Given the description of an element on the screen output the (x, y) to click on. 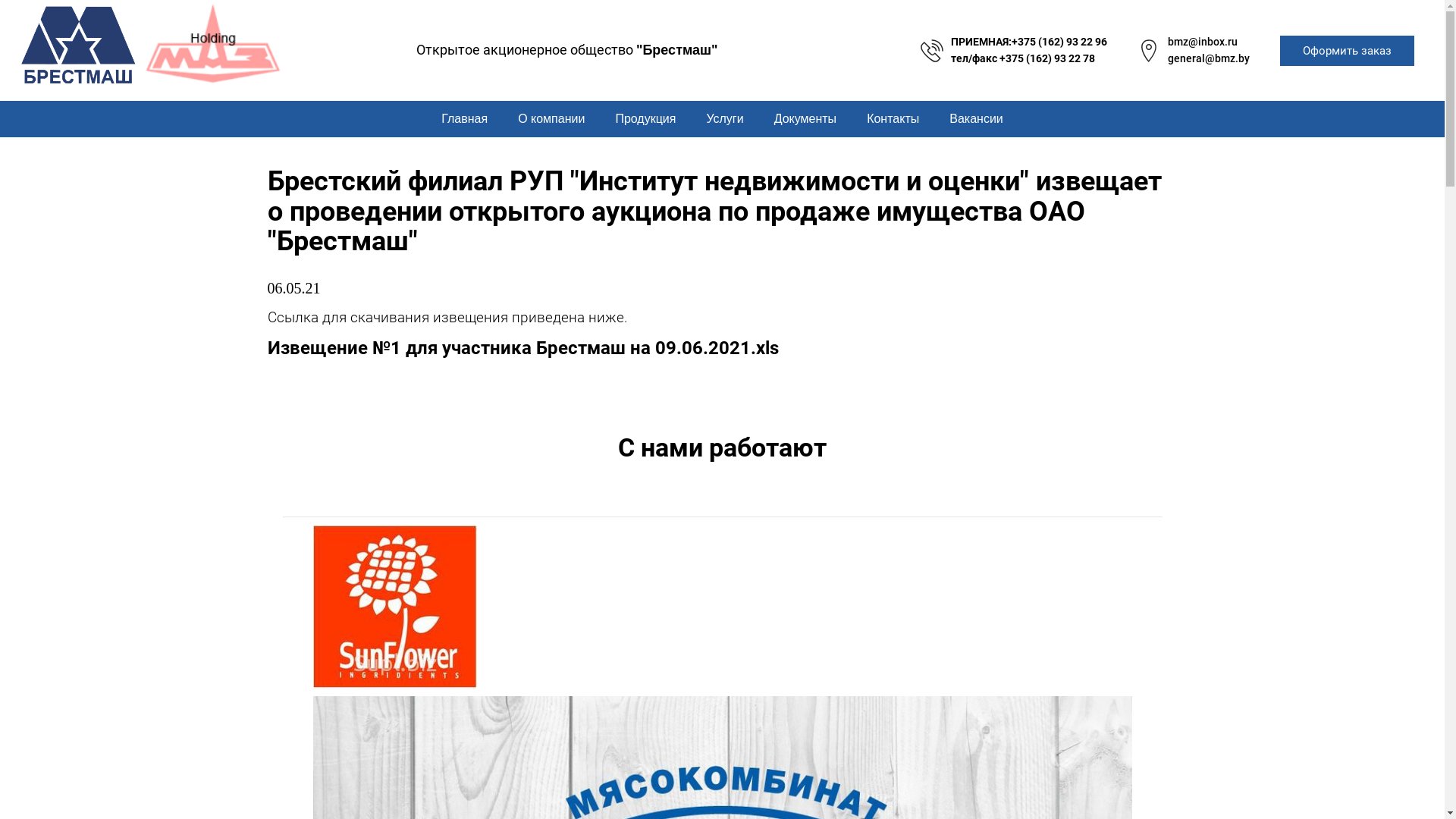
+375 (162) 93 22 96 Element type: text (1059, 41)
+375 (162) 93 22 78 Element type: text (1047, 58)
general@bmz.by Element type: text (1208, 58)
bmz@inbox.ru Element type: text (1202, 41)
